Given the description of an element on the screen output the (x, y) to click on. 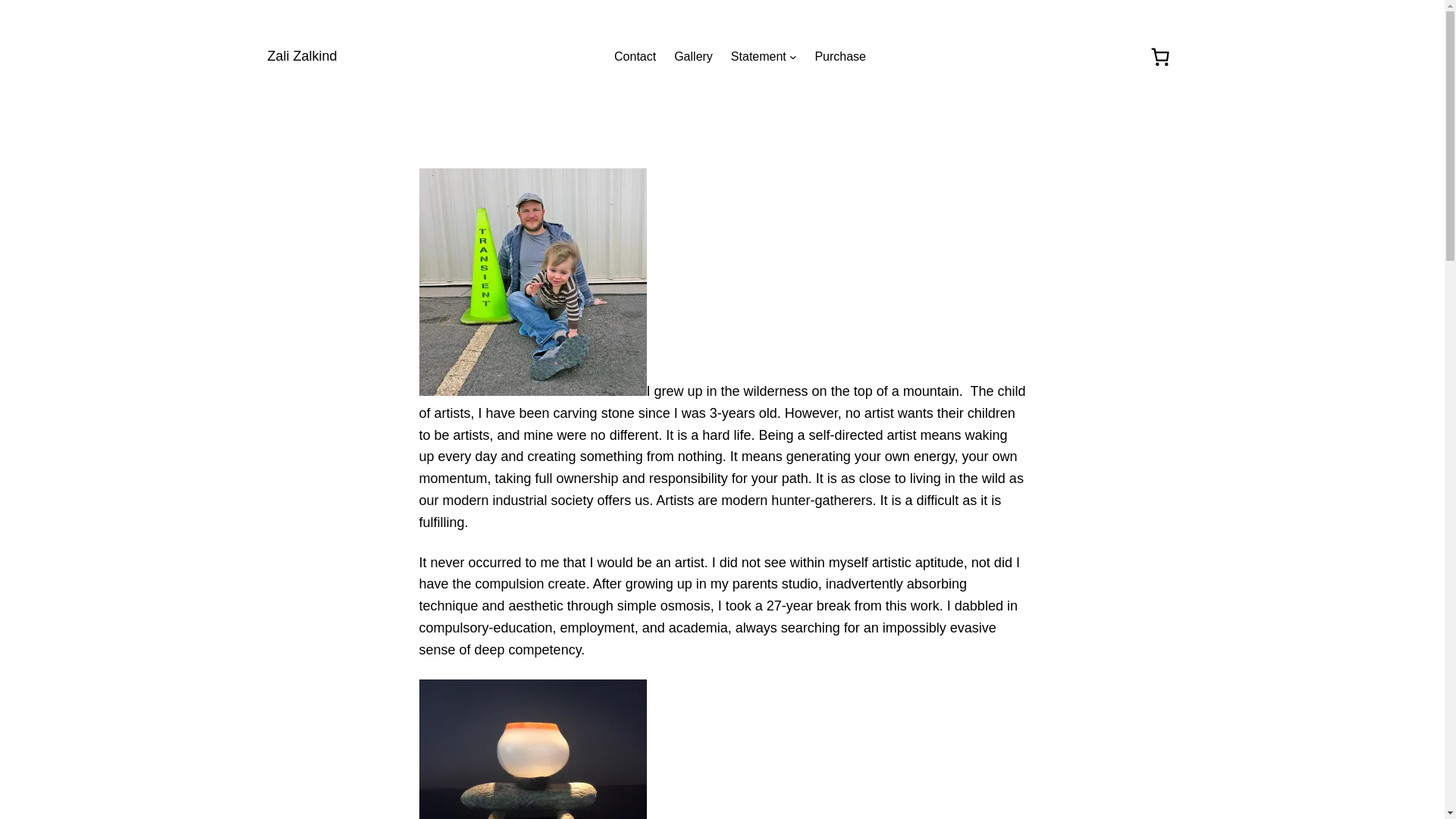
Zali Zalkind (301, 55)
Gallery (693, 56)
Contact (635, 56)
Statement (758, 56)
Purchase (839, 56)
